Given the description of an element on the screen output the (x, y) to click on. 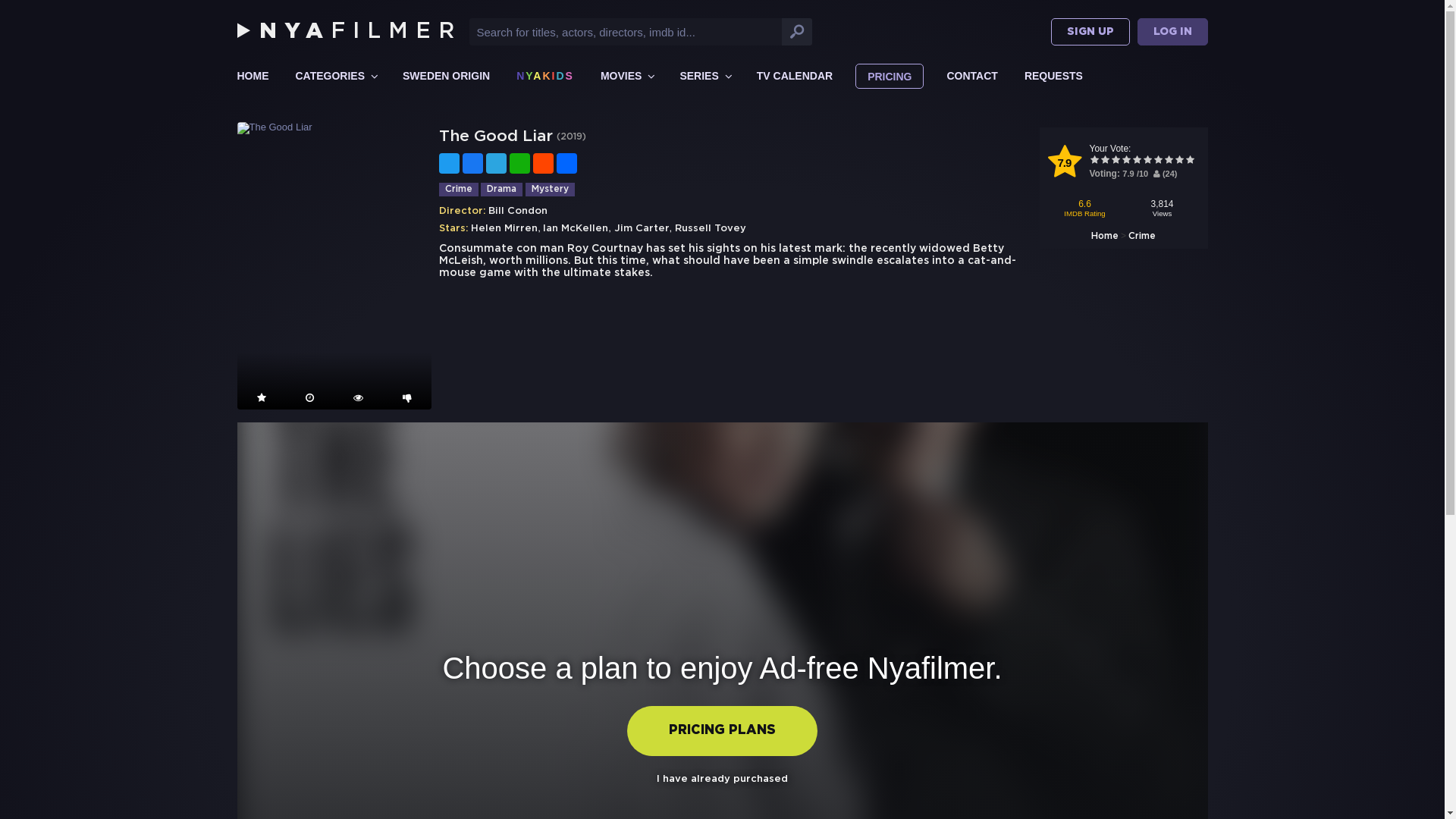
PRICING PLANS Element type: text (722, 731)
Facebook Element type: text (472, 163)
LOG IN Element type: text (1172, 31)
Jim Carter Element type: text (641, 228)
Ian McKellen Element type: text (575, 228)
Russell Tovey Element type: text (710, 228)
Mystery Element type: text (549, 189)
Drama Element type: text (501, 189)
Home Element type: text (1104, 236)
SERIES Element type: text (704, 75)
Reddit Element type: text (542, 163)
WhatsApp Element type: text (519, 163)
Click to vote: 7 Element type: hover (1157, 161)
Bill Condon Element type: text (517, 211)
TV CALENDAR Element type: text (794, 75)
PRICING Element type: text (889, 75)
MOVIES Element type: text (626, 75)
Click to vote: 4 Element type: hover (1125, 161)
Not Interested Element type: hover (406, 397)
REQUESTS Element type: text (1053, 75)
Watched Before Element type: hover (357, 397)
Share Element type: text (566, 163)
Click to vote: 2 Element type: hover (1104, 161)
NYAKIDS Element type: text (545, 75)
Telegram Element type: text (495, 163)
NYAFILMER Element type: text (348, 32)
2019 Element type: text (570, 136)
Click to vote: 6 Element type: hover (1147, 161)
Click to vote: 10 Element type: hover (1189, 161)
Click to vote: 9 Element type: hover (1178, 161)
Favorites Element type: hover (260, 397)
Click to vote: 8 Element type: hover (1168, 161)
Watch Later Element type: hover (309, 397)
Twitter Element type: text (448, 163)
HOME Element type: text (252, 75)
SIGN UP Element type: text (1090, 31)
Crime Element type: text (457, 189)
CATEGORIES Element type: text (335, 75)
I have already purchased Element type: text (721, 779)
Crime Element type: text (1141, 236)
Click to vote: 3 Element type: hover (1115, 161)
SWEDEN ORIGIN Element type: text (446, 75)
Helen Mirren Element type: text (503, 228)
CONTACT Element type: text (971, 75)
Click to vote: 5 Element type: hover (1136, 161)
Click to vote: 1 Element type: hover (1093, 161)
